Given the description of an element on the screen output the (x, y) to click on. 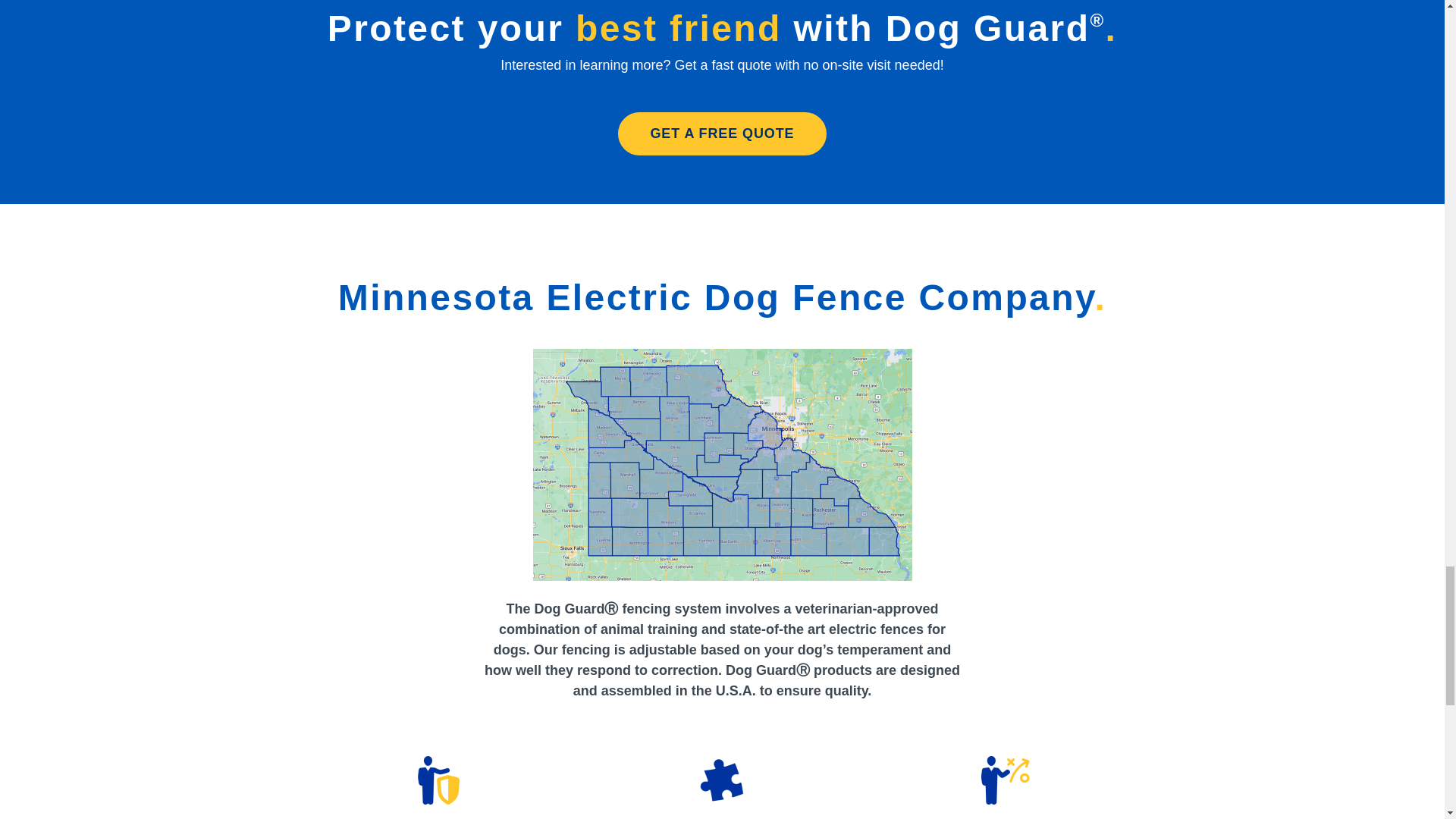
GET A FREE QUOTE (721, 133)
